Given the description of an element on the screen output the (x, y) to click on. 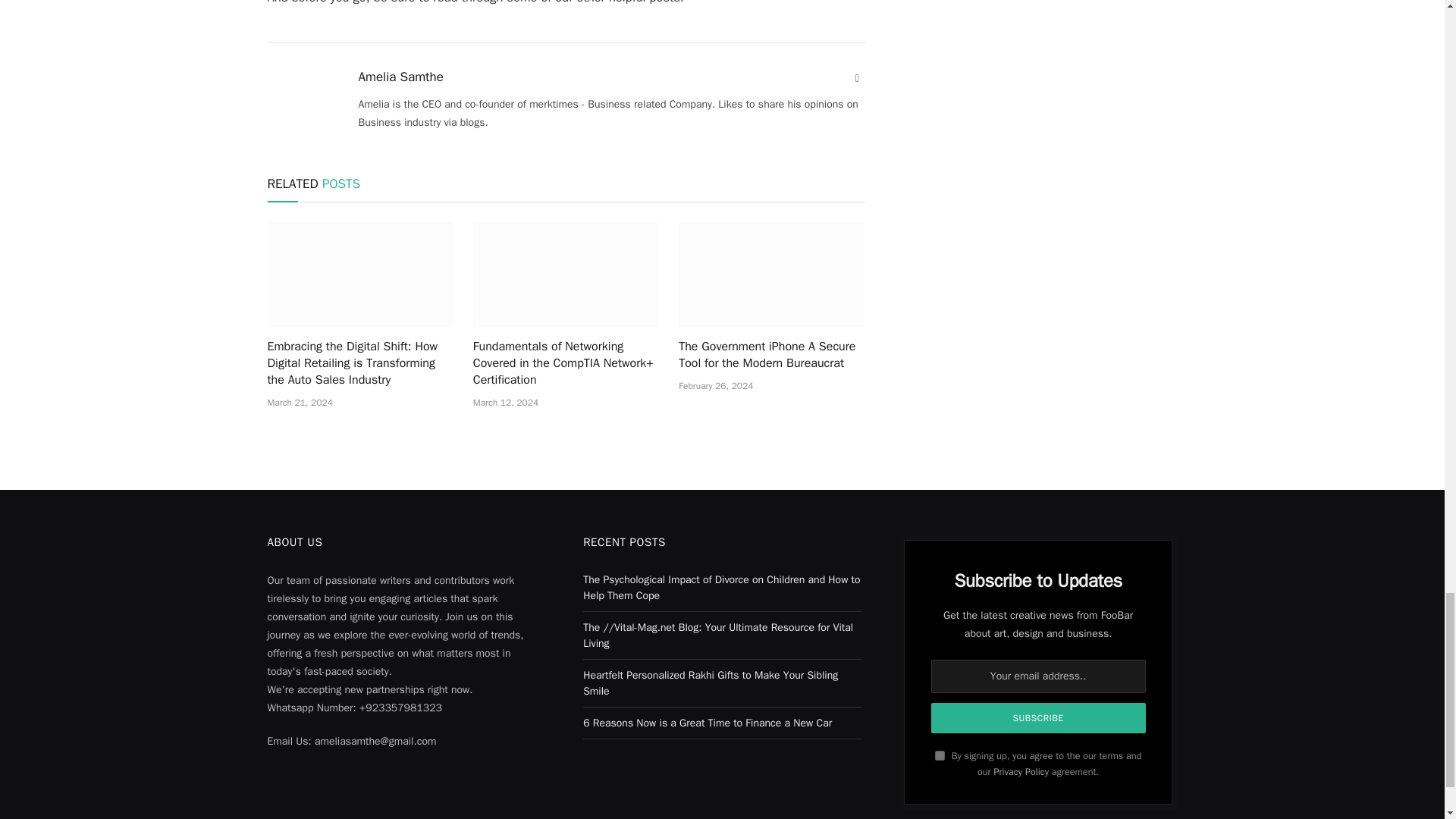
on (939, 755)
Subscribe (1038, 717)
Amelia Samthe (400, 77)
6 Reasons Now is a Great Time to Finance a New Car (707, 722)
Privacy Policy (1020, 771)
Website (856, 78)
Subscribe (1038, 717)
